Given the description of an element on the screen output the (x, y) to click on. 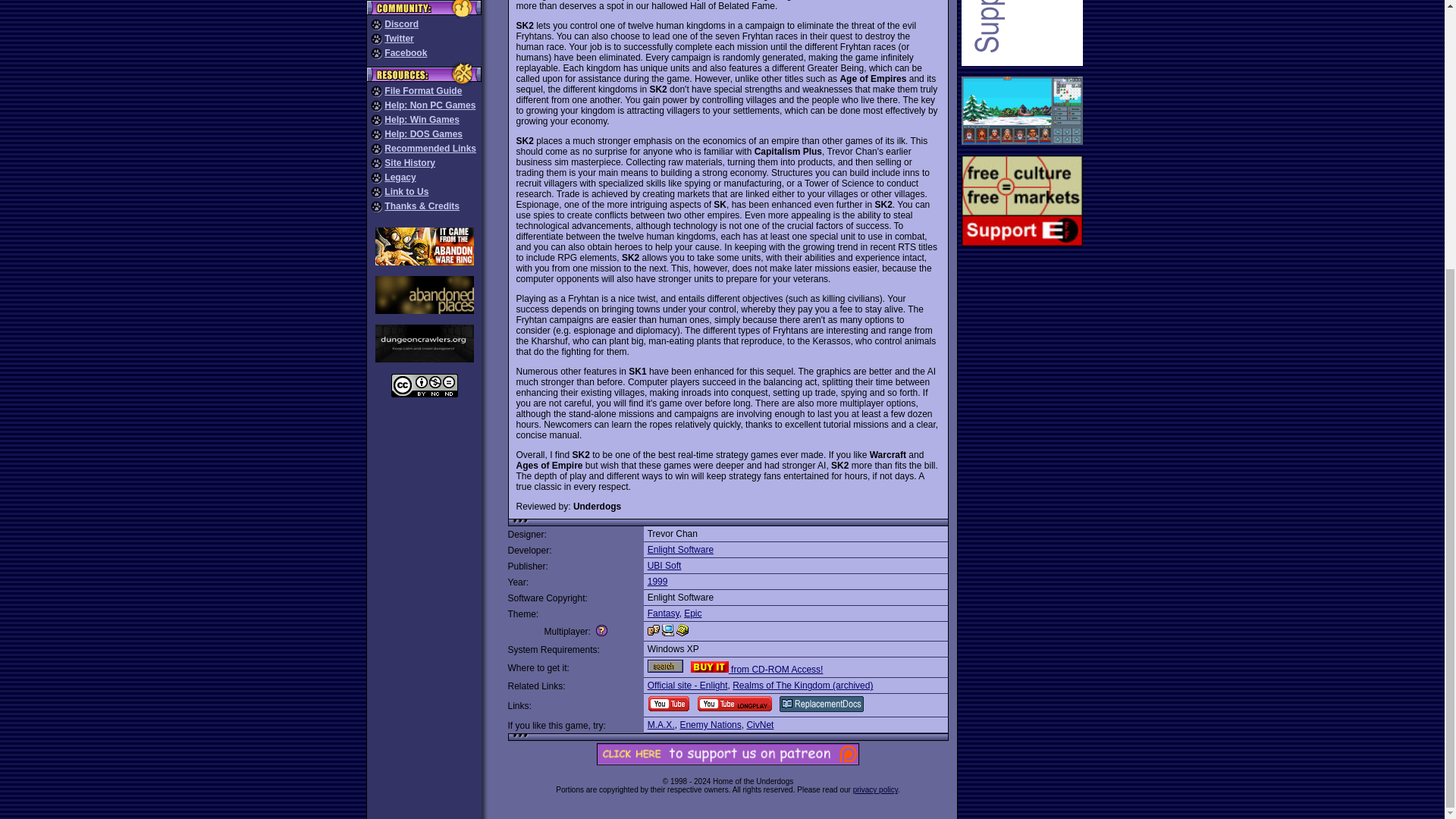
Link to Us (406, 191)
Help: Win Games (422, 119)
File Format Guide (422, 90)
Help: DOS Games (423, 133)
Site History (409, 163)
Twitter (398, 38)
Discord (401, 23)
Help: Non PC Games (430, 104)
Legacy (399, 176)
Facebook (405, 52)
Recommended Links (430, 148)
